Given the description of an element on the screen output the (x, y) to click on. 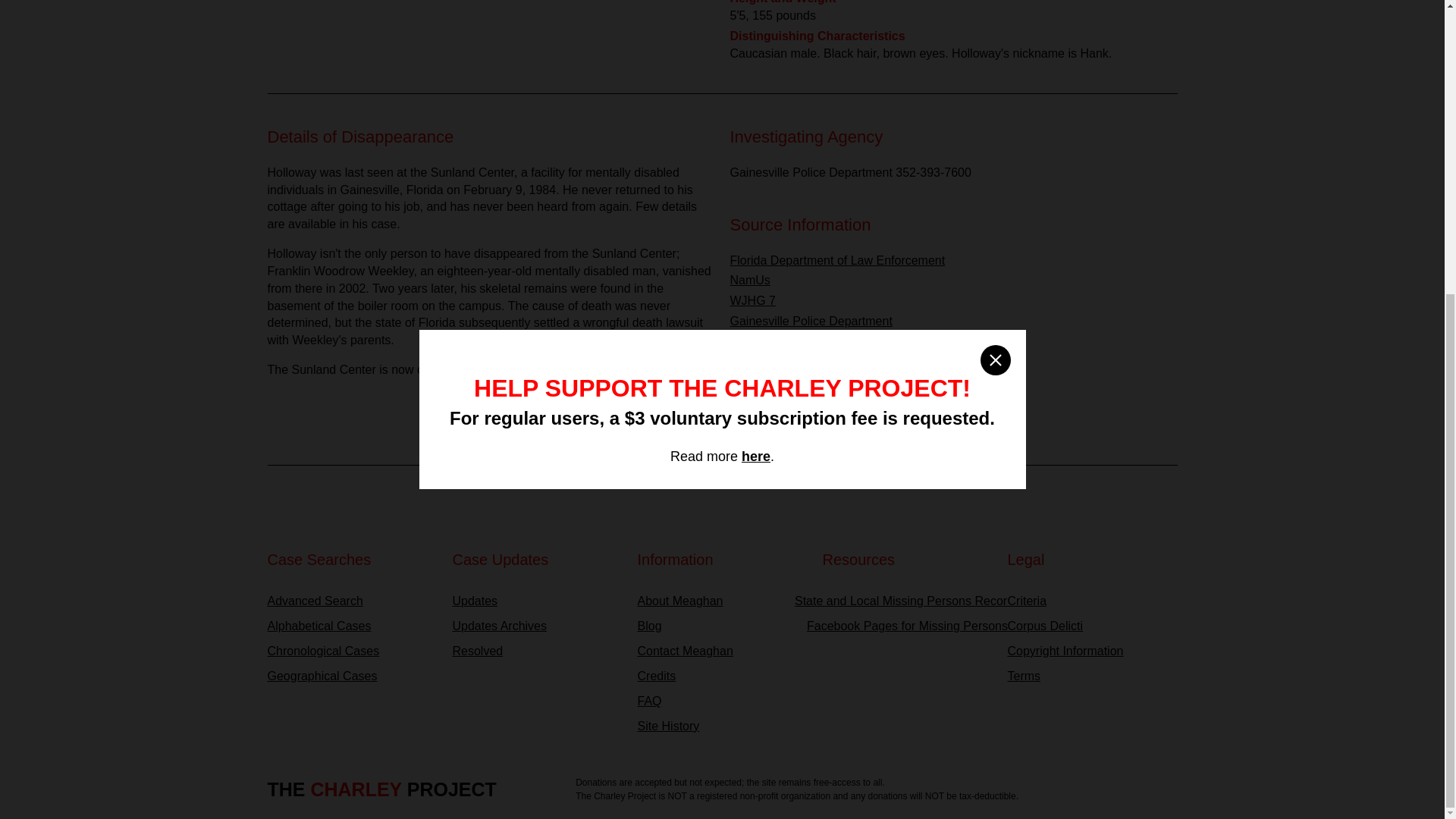
Geographical Cases (351, 676)
WJHG 7 (751, 300)
Advanced Search (351, 601)
About Meaghan (721, 601)
NamUs (749, 279)
Gainesville Police Department (810, 320)
Updates (536, 601)
Chronological Cases (351, 651)
Blog (721, 626)
Updates Archives (536, 626)
